Given the description of an element on the screen output the (x, y) to click on. 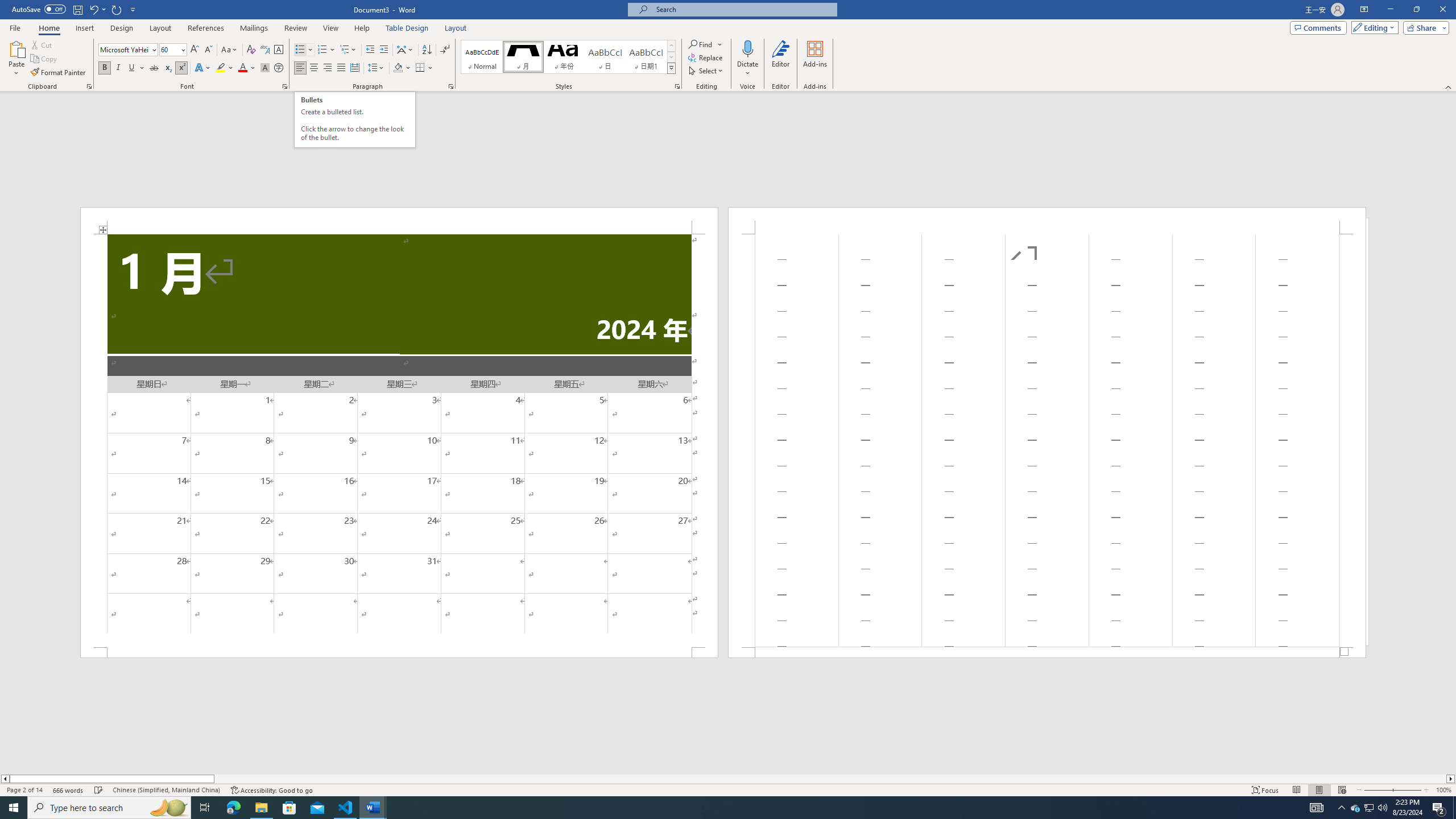
Replace... (705, 56)
Row Down (670, 56)
Help (361, 28)
AutoSave (38, 9)
Text Highlight Color (224, 67)
Paste (16, 58)
Mode (1372, 27)
Layout (455, 28)
Change Case (229, 49)
Page 1 content (398, 440)
Show/Hide Editing Marks (444, 49)
Language Chinese (Simplified, Mainland China) (165, 790)
Italic (118, 67)
Spelling and Grammar Check Checking (98, 790)
